Given the description of an element on the screen output the (x, y) to click on. 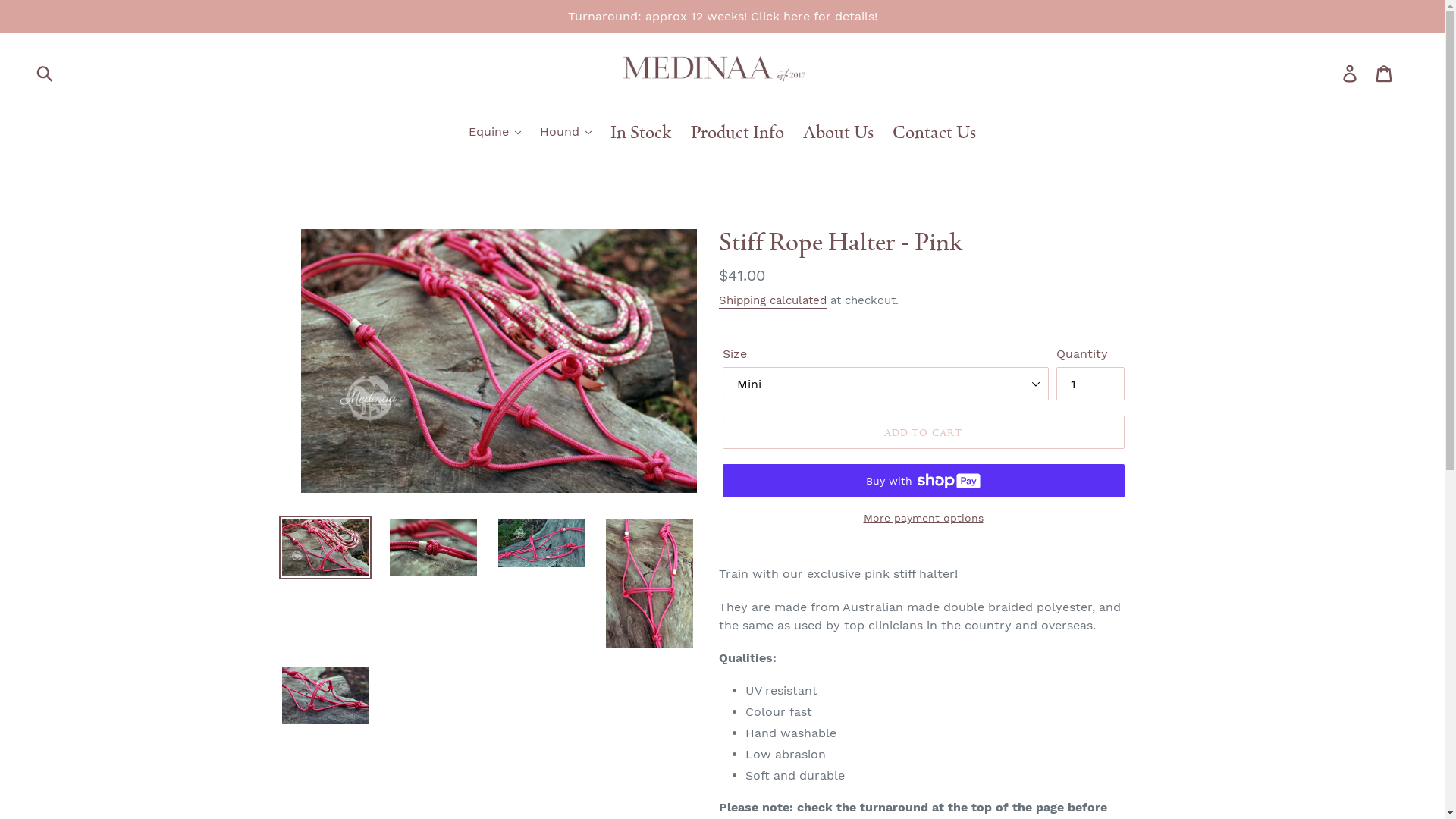
Contact Us Element type: text (933, 132)
Product Info Element type: text (737, 132)
Log in Element type: text (1350, 73)
Cart Element type: text (1384, 73)
Turnaround: approx 12 weeks! Click here for details! Element type: text (722, 16)
Shipping calculated Element type: text (772, 300)
More payment options Element type: text (922, 518)
In Stock Element type: text (640, 132)
ADD TO CART Element type: text (922, 431)
Submit Element type: text (45, 72)
About Us Element type: text (838, 132)
